Given the description of an element on the screen output the (x, y) to click on. 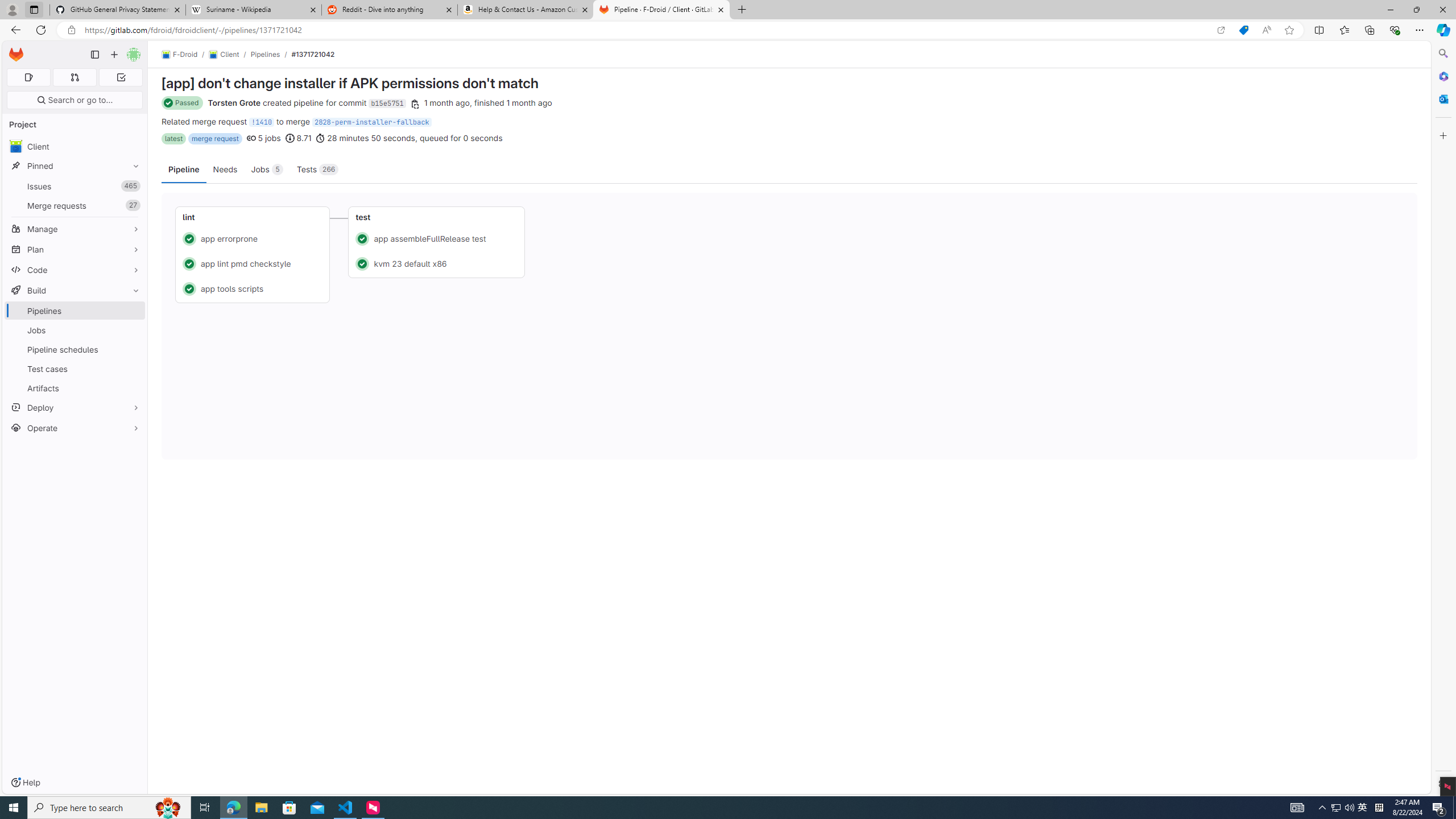
F-Droid (179, 54)
Pinned (74, 165)
avatar (15, 146)
Pin Pipeline schedules (132, 349)
Pin Artifacts (132, 387)
Test cases (74, 368)
#1371721042 (312, 53)
Needs (224, 169)
Status: Passed app tools scripts (252, 288)
Artifacts (74, 387)
Status: Passed app assembleFullRelease test (436, 238)
